Given the description of an element on the screen output the (x, y) to click on. 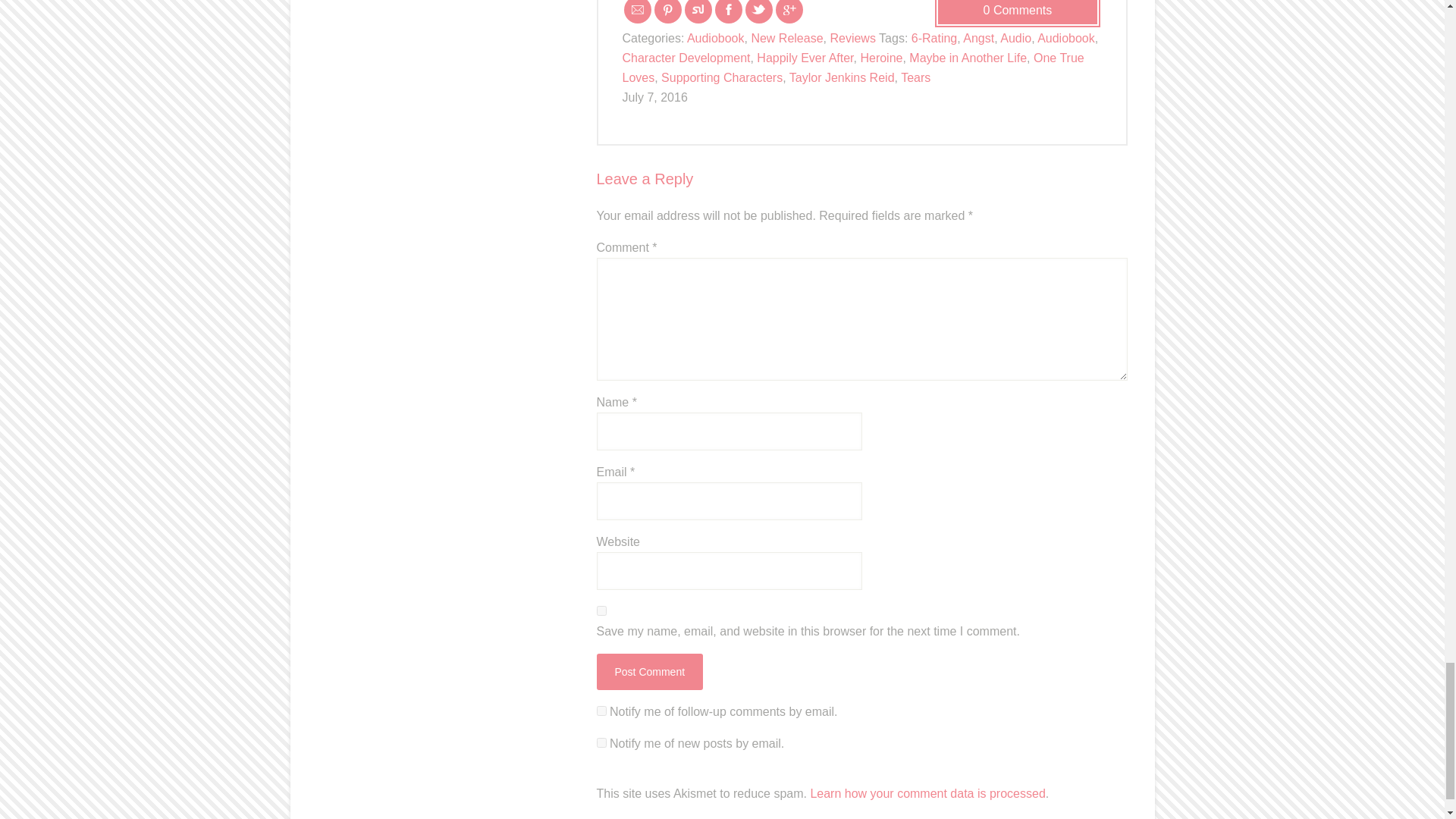
Learn how your comment data is processed (927, 793)
Post Comment (649, 671)
Audio (1015, 38)
0 Comments (1016, 14)
Heroine (881, 57)
Post Comment (649, 671)
subscribe (600, 710)
Audiobook (1065, 38)
Maybe in Another Life (967, 57)
6-Rating (933, 38)
